Given the description of an element on the screen output the (x, y) to click on. 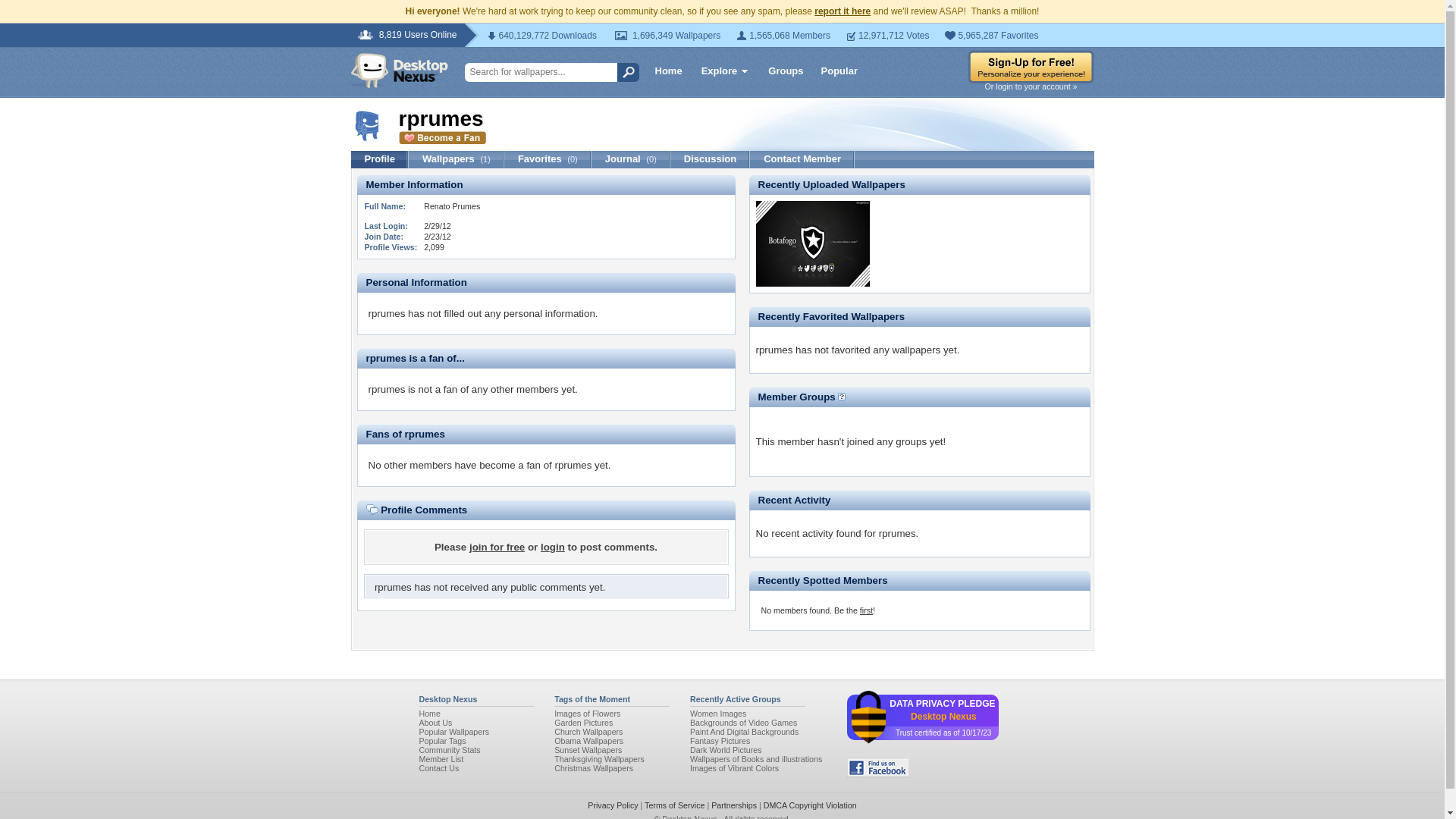
first (866, 610)
groups (910, 441)
report it here (841, 10)
Discussion (709, 159)
Popular (838, 70)
Botafogo F.R. (812, 283)
Groups (785, 70)
Profile (378, 159)
Explore (725, 72)
login (552, 546)
This member hasn't joined any (825, 452)
Desktop Nexus Wallpapers (398, 70)
Desktop Nexus Wallpapers (398, 70)
Search for wallpapers... (546, 72)
Contact Member (801, 159)
